Given the description of an element on the screen output the (x, y) to click on. 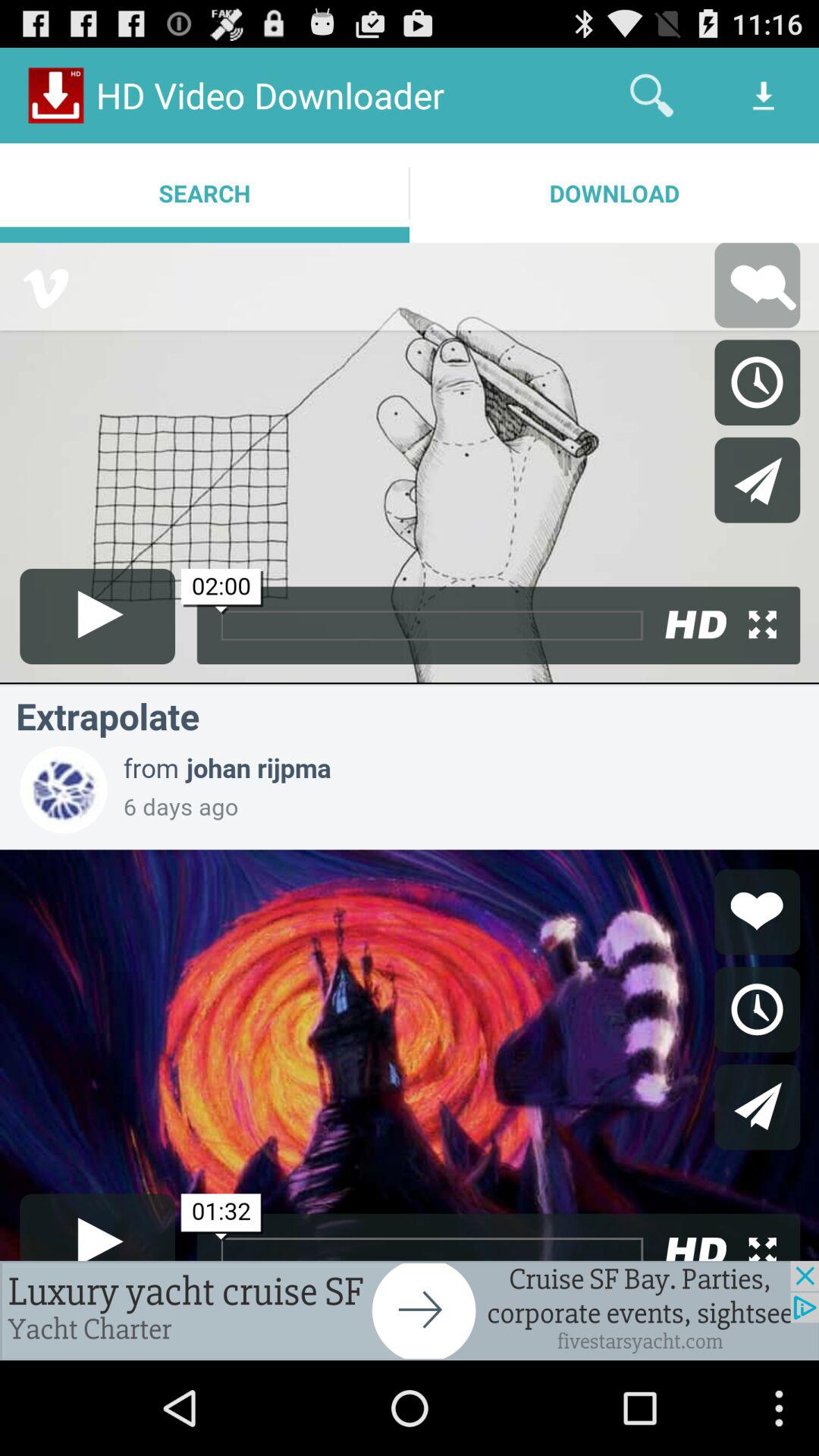
tap icon to the right of the hd video downloader item (651, 95)
